Given the description of an element on the screen output the (x, y) to click on. 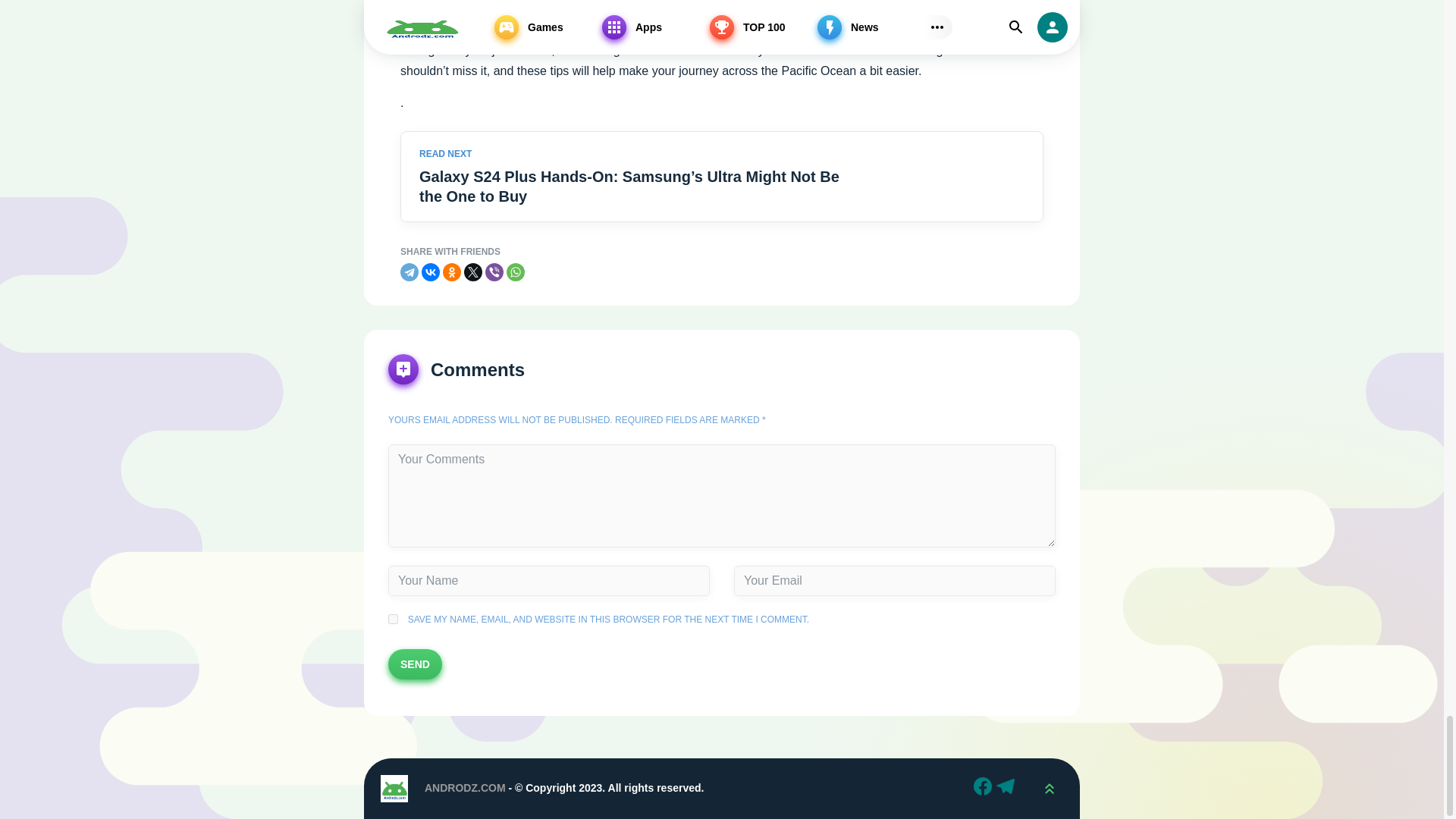
ANDRODZ.COM (465, 787)
Scroll up (1048, 788)
Telegram (409, 271)
androdz.com (393, 788)
androdz.com (393, 788)
androdz.com (1048, 788)
androdz.com (393, 788)
Viber (493, 271)
yes (392, 619)
Follow androdz.com on Facebook (984, 788)
